Given the description of an element on the screen output the (x, y) to click on. 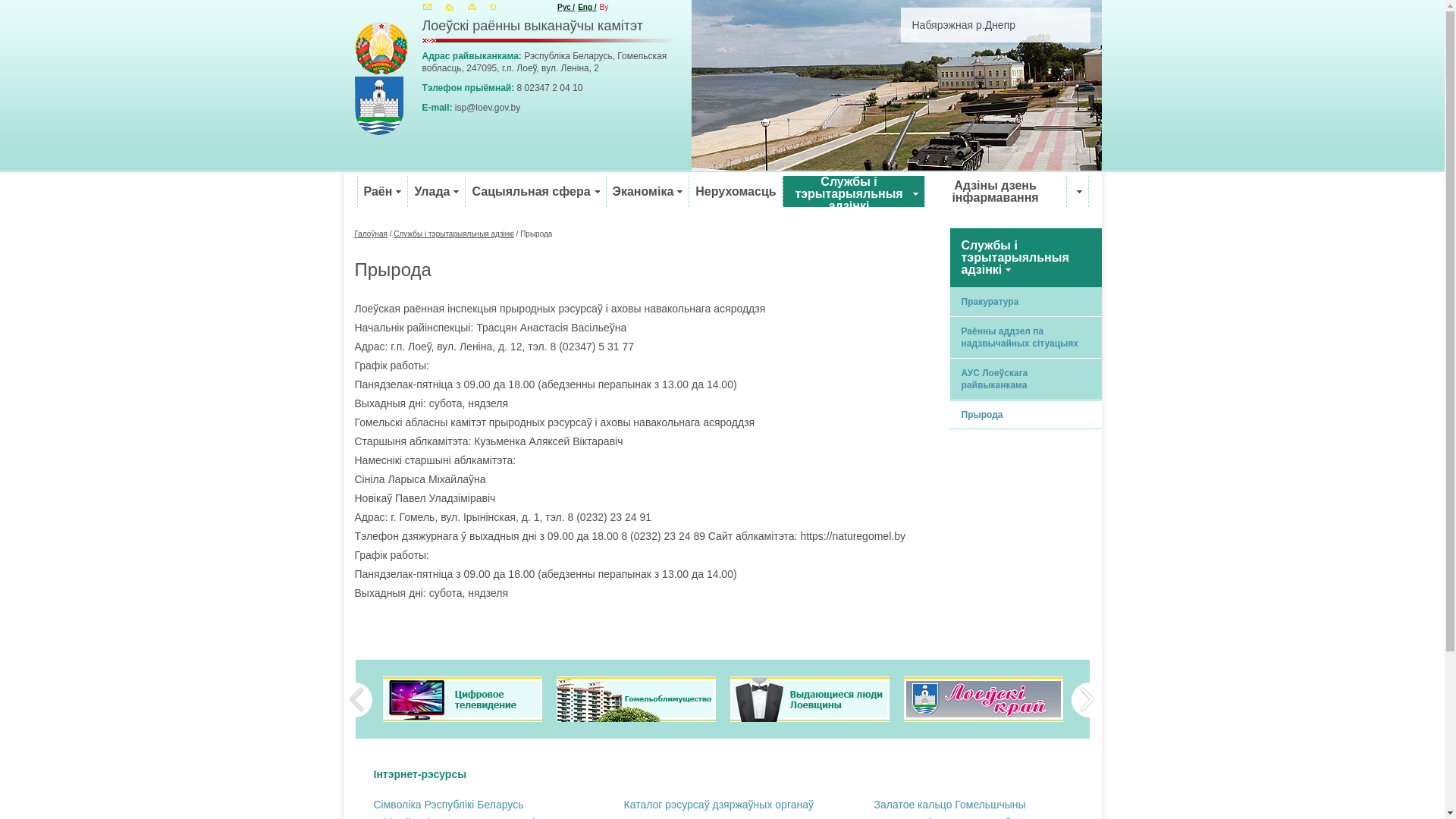
Eng / Element type: text (586, 7)
isp@loev.gov.by Element type: text (487, 107)
